Given the description of an element on the screen output the (x, y) to click on. 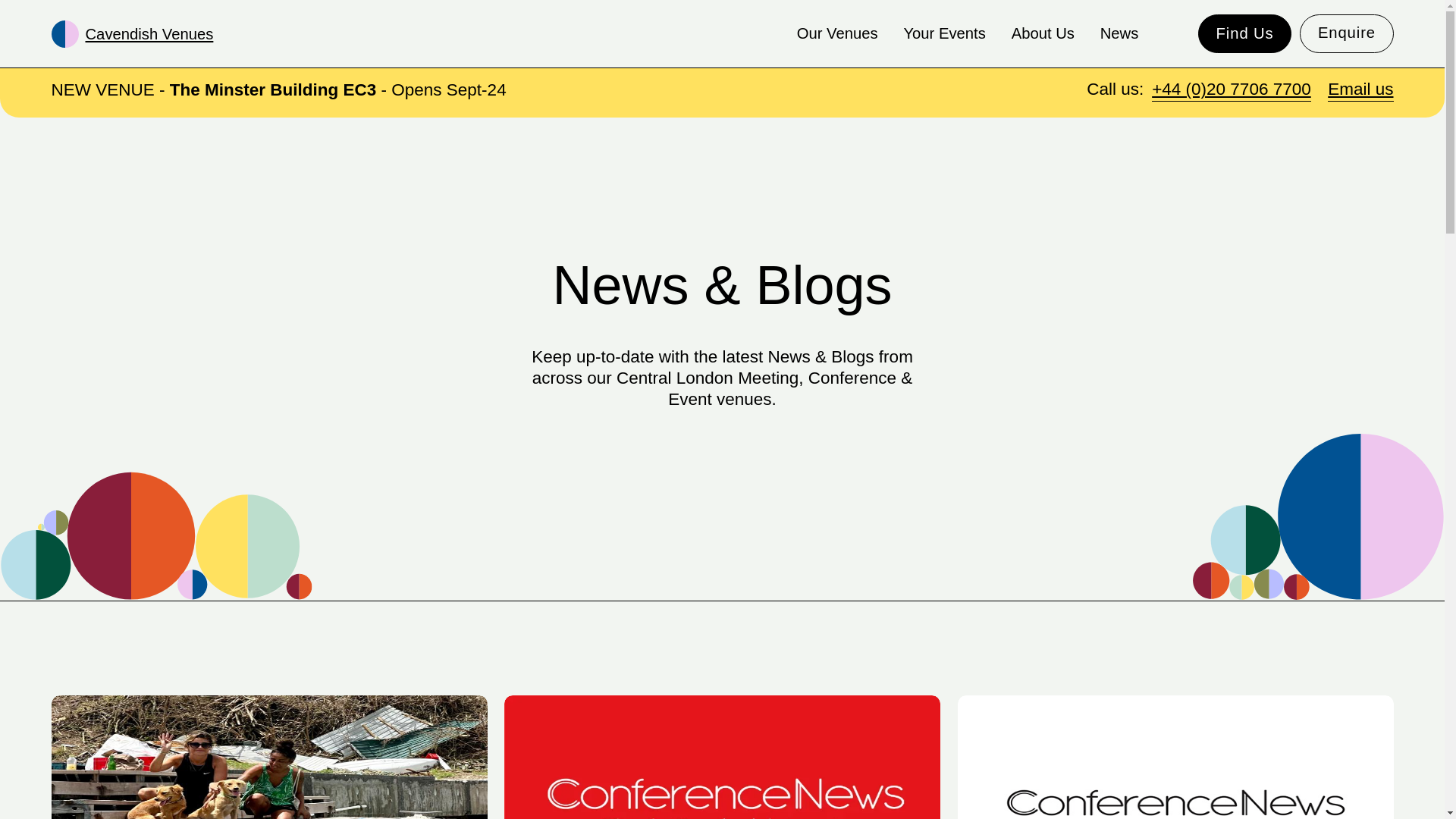
About Us (1042, 33)
Your Events (943, 33)
Email us (1360, 88)
Find Us (1244, 33)
News (1119, 33)
Enquire (1346, 33)
Cavendish Venues (132, 33)
Our Venues (836, 33)
